Given the description of an element on the screen output the (x, y) to click on. 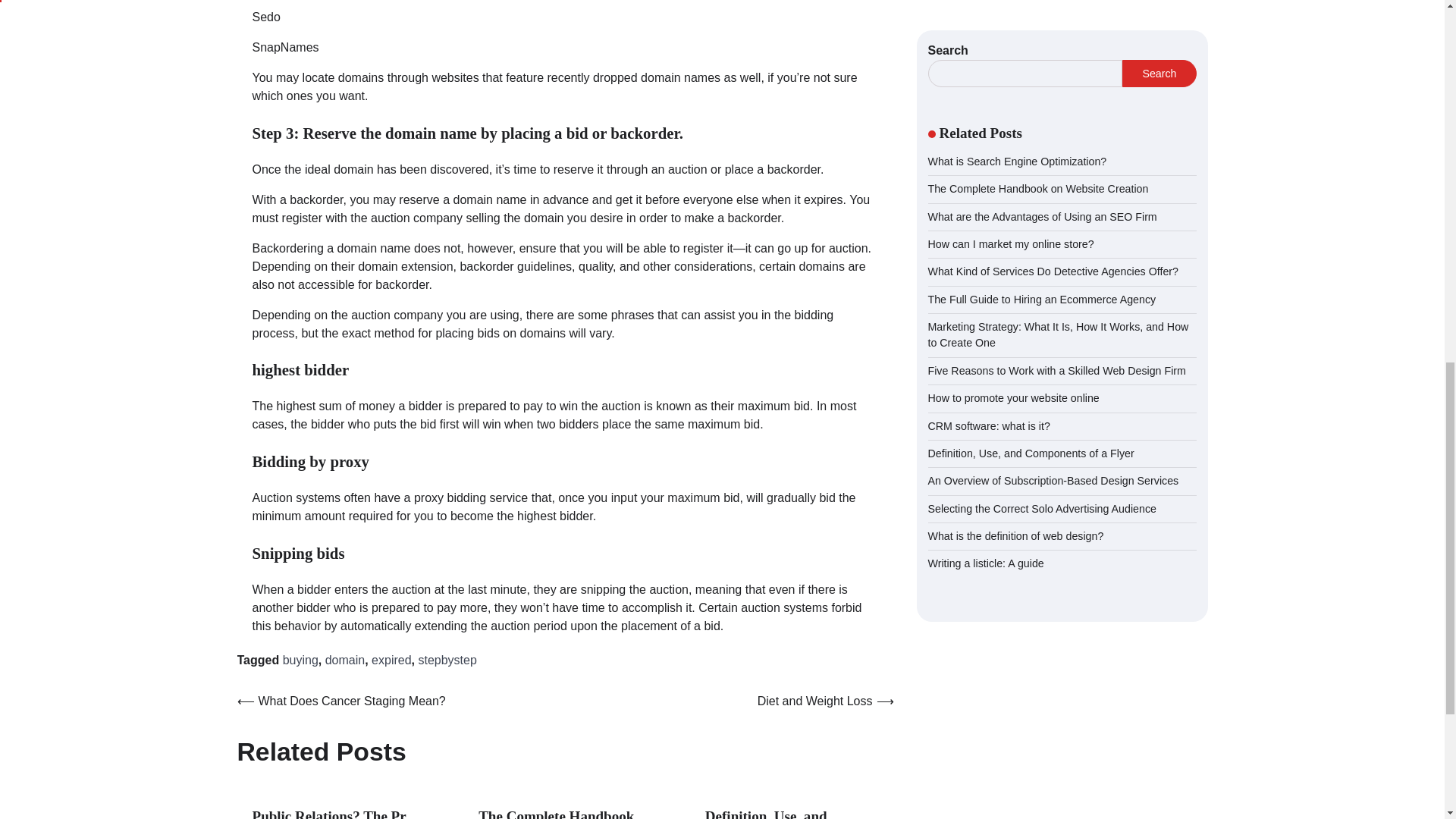
domain (344, 659)
Definition, Use, and Components of a Flyer (774, 813)
expired (390, 659)
buying (300, 659)
stepbystep (446, 659)
Public Relations? The Pr Definition Is Explained (328, 813)
The Complete Handbook on Website Creation (556, 813)
